Given the description of an element on the screen output the (x, y) to click on. 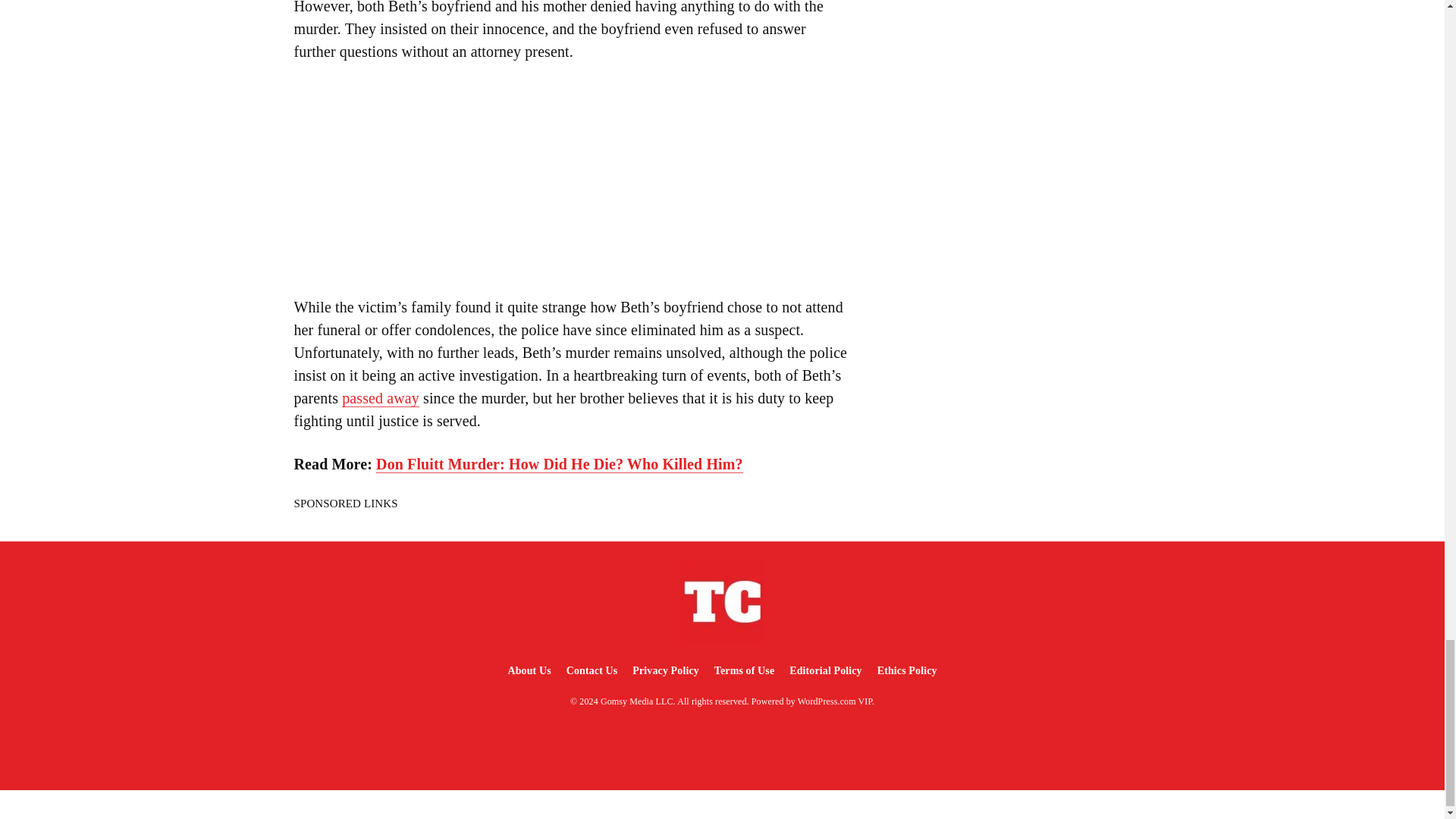
Don Fluitt Murder: How Did He Die? Who Killed Him? (558, 464)
Privacy Policy (665, 670)
Terms of Use (743, 670)
WordPress.com VIP (834, 701)
About Us (528, 670)
Ethics Policy (906, 670)
Editorial Policy (825, 670)
Contact Us (592, 670)
passed away (380, 398)
